Given the description of an element on the screen output the (x, y) to click on. 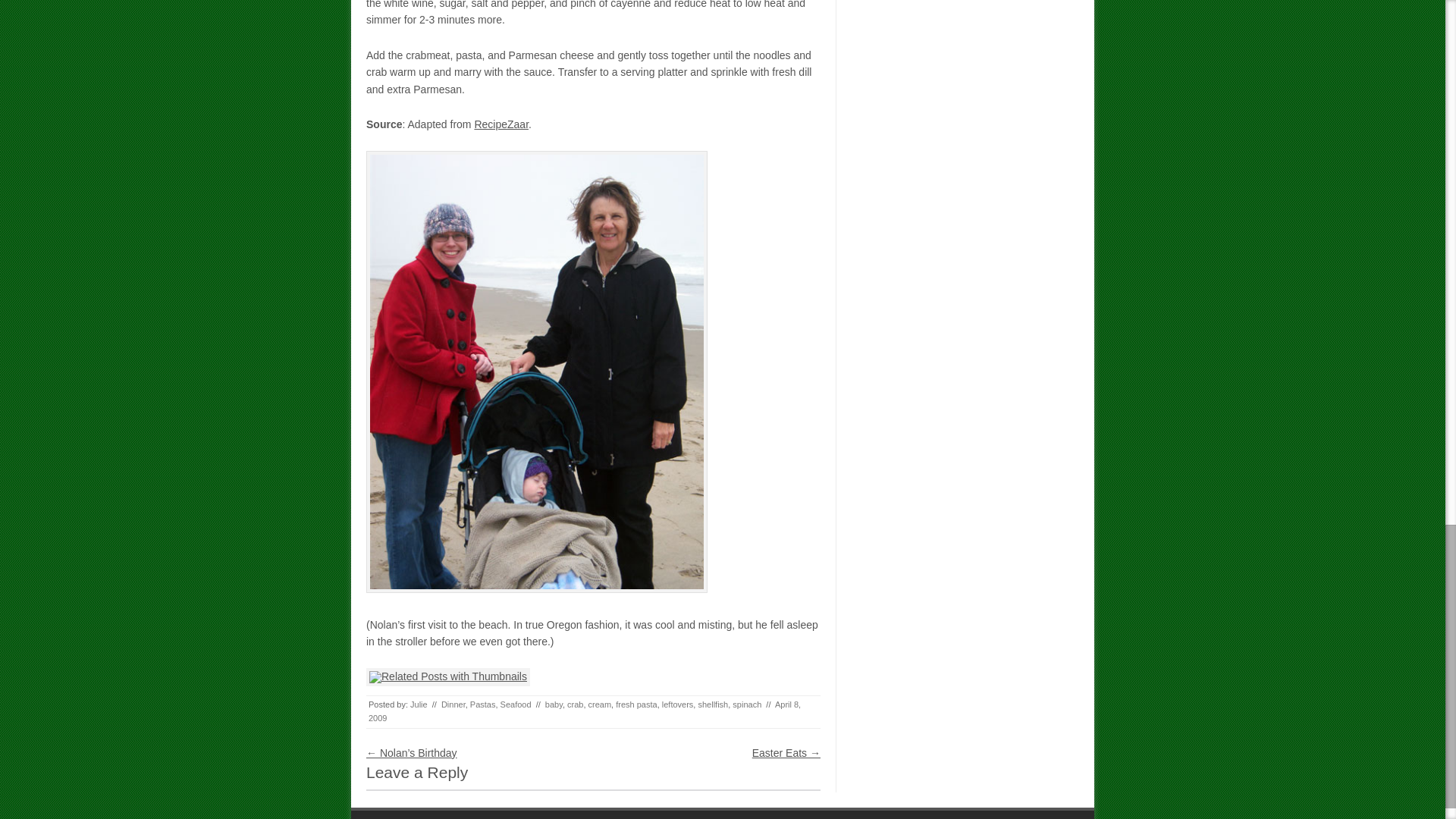
cream (599, 704)
baby (553, 704)
Dinner (453, 704)
Pastas (483, 704)
crab (575, 704)
fresh pasta (635, 704)
RecipeZaar (501, 123)
shellfish (712, 704)
spinach (746, 704)
leftovers (678, 704)
View all posts by Julie (419, 704)
Julie (419, 704)
11:51 pm (584, 711)
Seafood (515, 704)
